Given the description of an element on the screen output the (x, y) to click on. 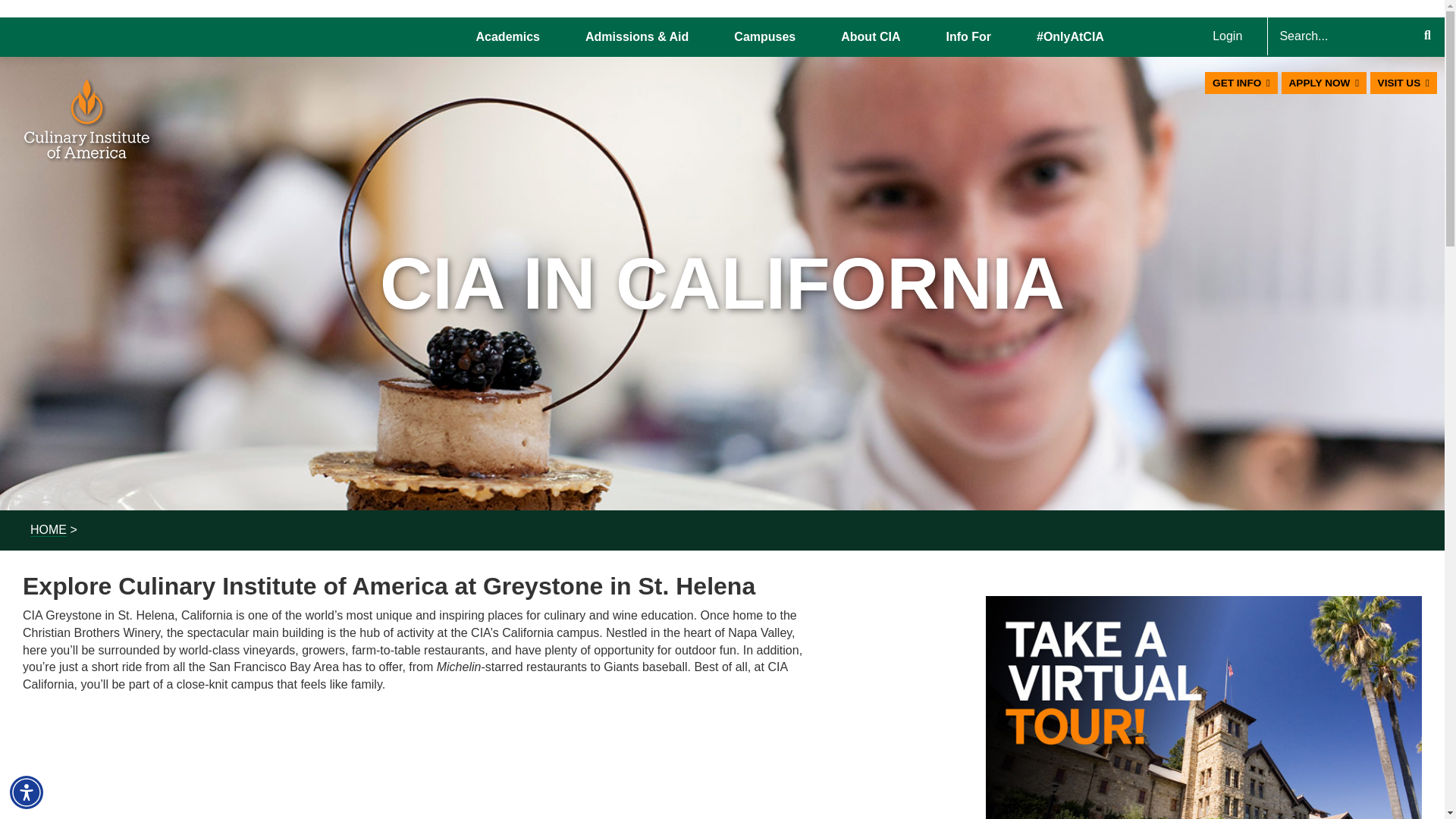
youtube (421, 765)
Accessibility Menu (26, 792)
